Given the description of an element on the screen output the (x, y) to click on. 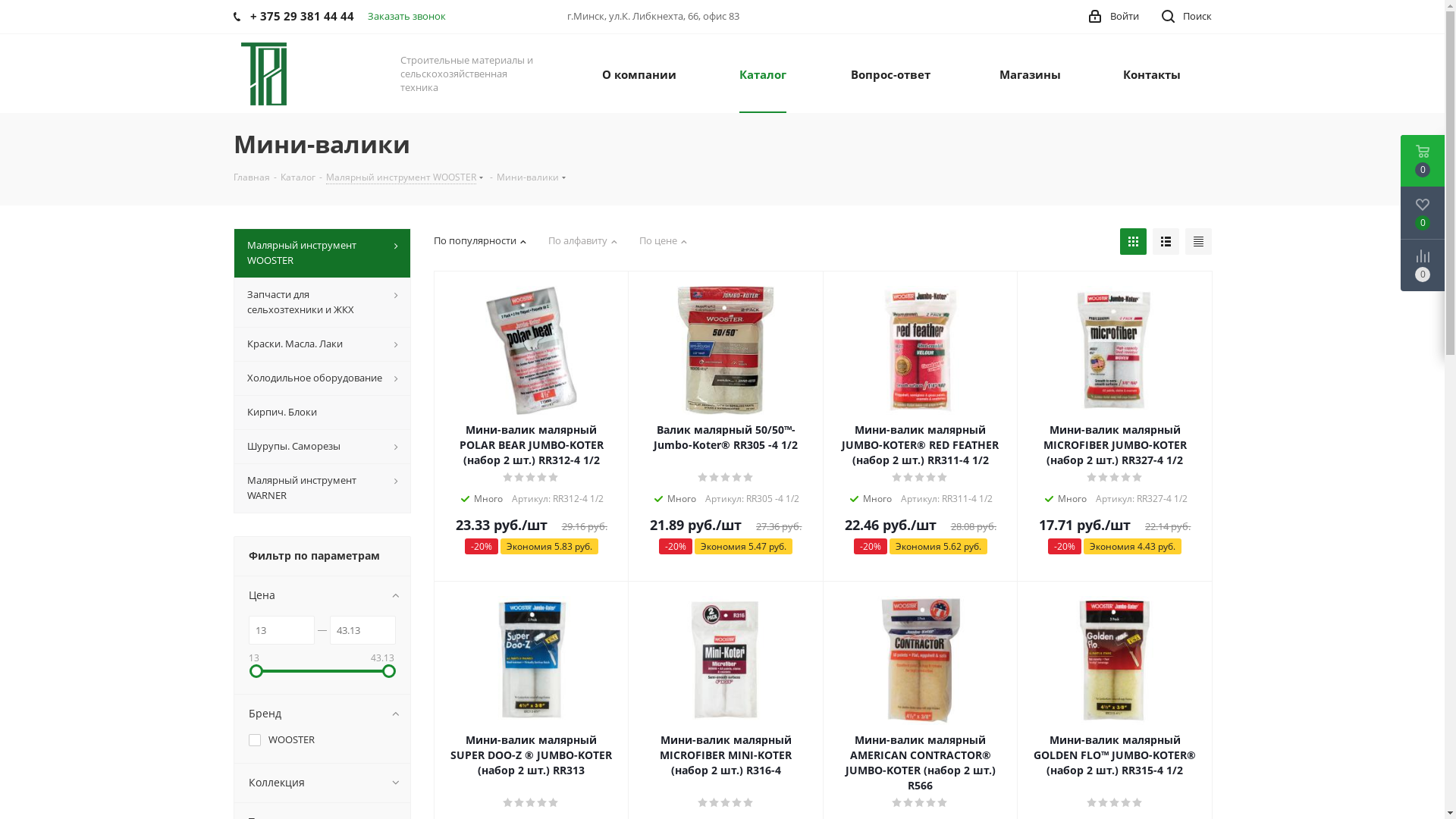
3 Element type: hover (919, 802)
Y Element type: text (4, 4)
3 Element type: hover (1114, 477)
2 Element type: hover (1103, 802)
3 Element type: hover (530, 477)
5 Element type: hover (942, 802)
1 Element type: hover (1092, 477)
2 Element type: hover (519, 477)
5 Element type: hover (1137, 802)
4 Element type: hover (737, 802)
1 Element type: hover (508, 477)
4 Element type: hover (542, 477)
5 Element type: hover (553, 477)
2 Element type: hover (714, 477)
5 Element type: hover (1137, 477)
3 Element type: hover (530, 802)
3 Element type: hover (919, 477)
1 Element type: hover (897, 802)
4 Element type: hover (931, 477)
4 Element type: hover (931, 802)
3 Element type: hover (725, 477)
1 Element type: hover (703, 477)
1 Element type: hover (703, 802)
5 Element type: hover (553, 802)
5 Element type: hover (942, 477)
4 Element type: hover (542, 802)
2 Element type: hover (714, 802)
1 Element type: hover (1092, 802)
1 Element type: hover (508, 802)
2 Element type: hover (908, 477)
4 Element type: hover (1126, 802)
4 Element type: hover (737, 477)
2 Element type: hover (1103, 477)
2 Element type: hover (908, 802)
4 Element type: hover (1126, 477)
5 Element type: hover (748, 802)
1 Element type: hover (897, 477)
2 Element type: hover (519, 802)
5 Element type: hover (748, 477)
3 Element type: hover (725, 802)
3 Element type: hover (1114, 802)
